Given the description of an element on the screen output the (x, y) to click on. 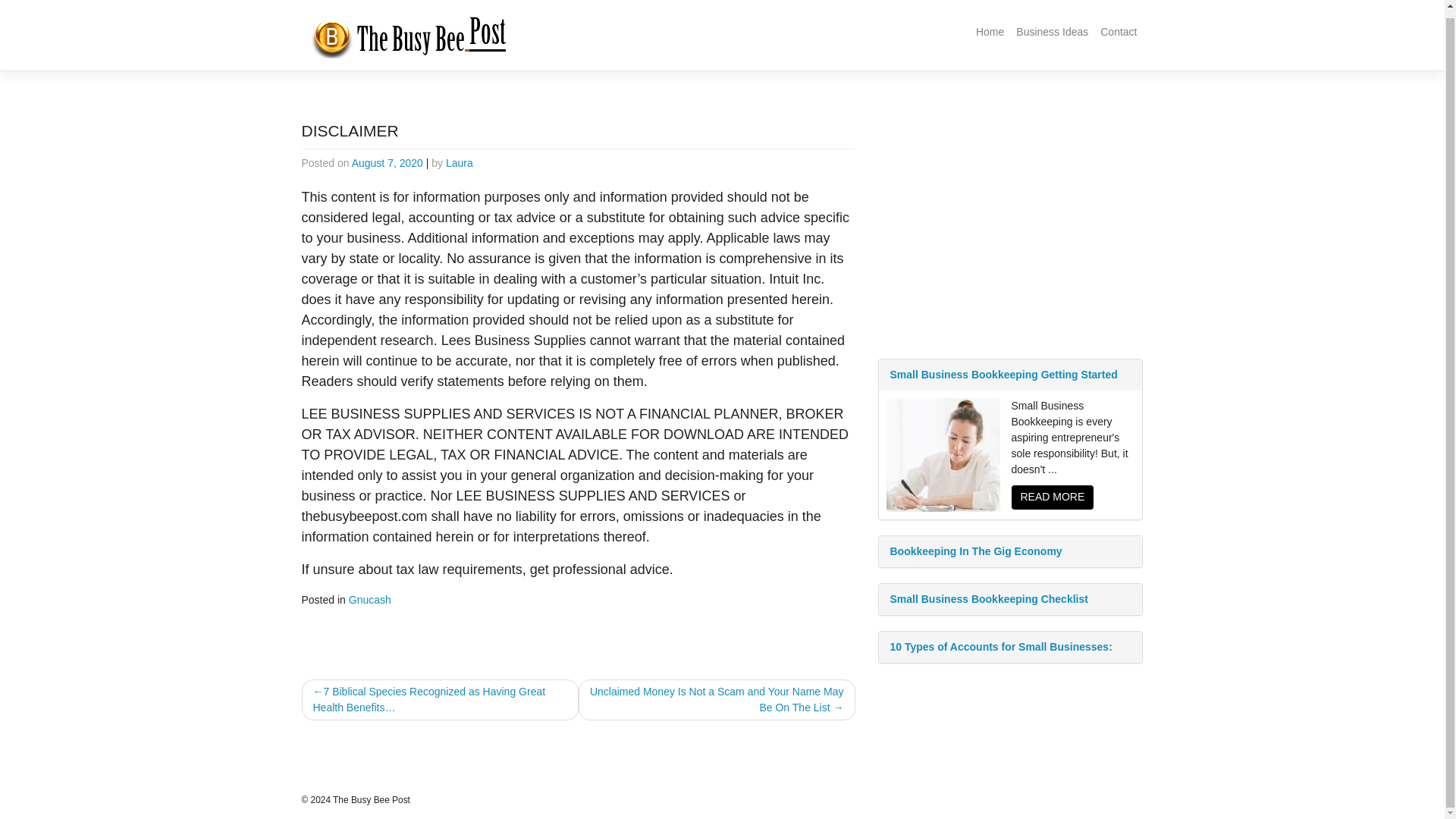
The Busy Bee Post (371, 799)
Contact (1118, 31)
Small Business Bookkeeping Getting Started (1009, 374)
August 7, 2020 (387, 162)
10 Types of Accounts for Small Businesses: (1009, 646)
Laura (459, 162)
Small Business Bookkeeping Checklist (1009, 599)
Gnucash (370, 599)
Business Ideas (1052, 31)
